Given the description of an element on the screen output the (x, y) to click on. 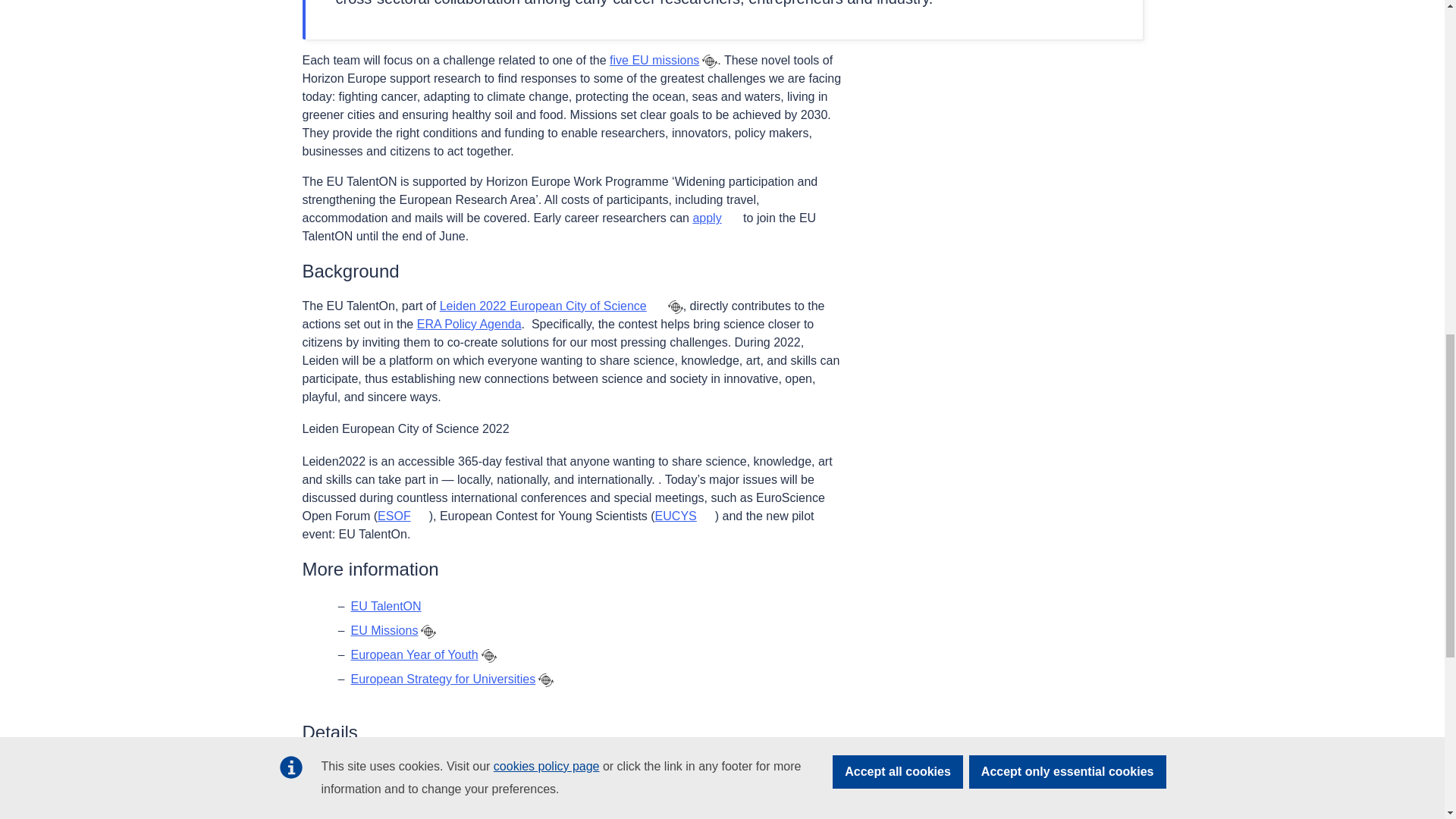
apply (716, 217)
ERA Policy Agenda (468, 323)
Leiden 2022 European City of Science (552, 305)
EUCYS (684, 515)
European Year of Youth (413, 654)
five EU missions (654, 60)
EU TalentON (394, 605)
Search for available translations (675, 306)
EU Missions (383, 630)
European Strategy for Universities (442, 678)
